Given the description of an element on the screen output the (x, y) to click on. 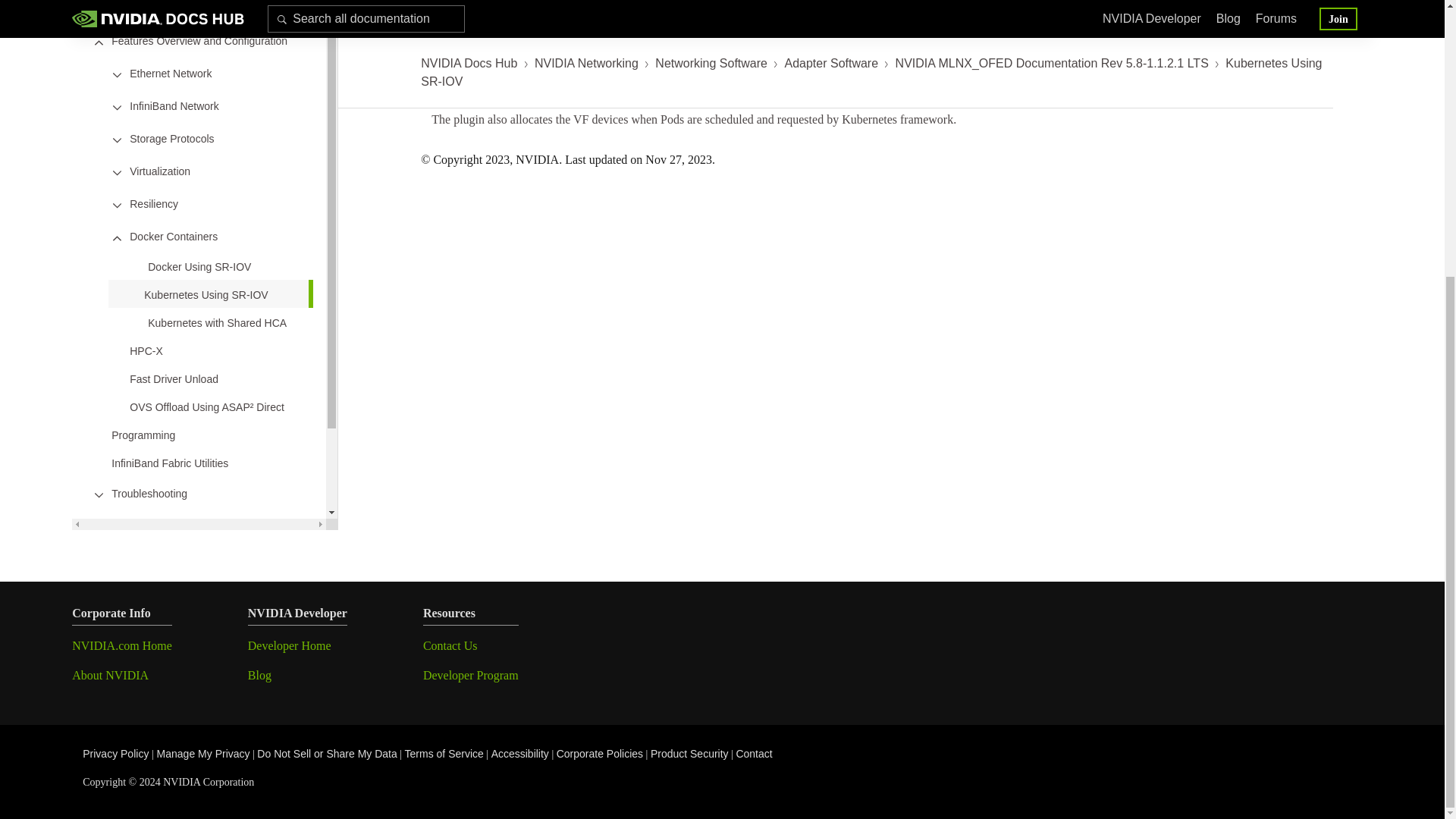
Ethernet Network (170, 72)
Installation (136, 7)
Features Overview and Configuration (199, 40)
